Given the description of an element on the screen output the (x, y) to click on. 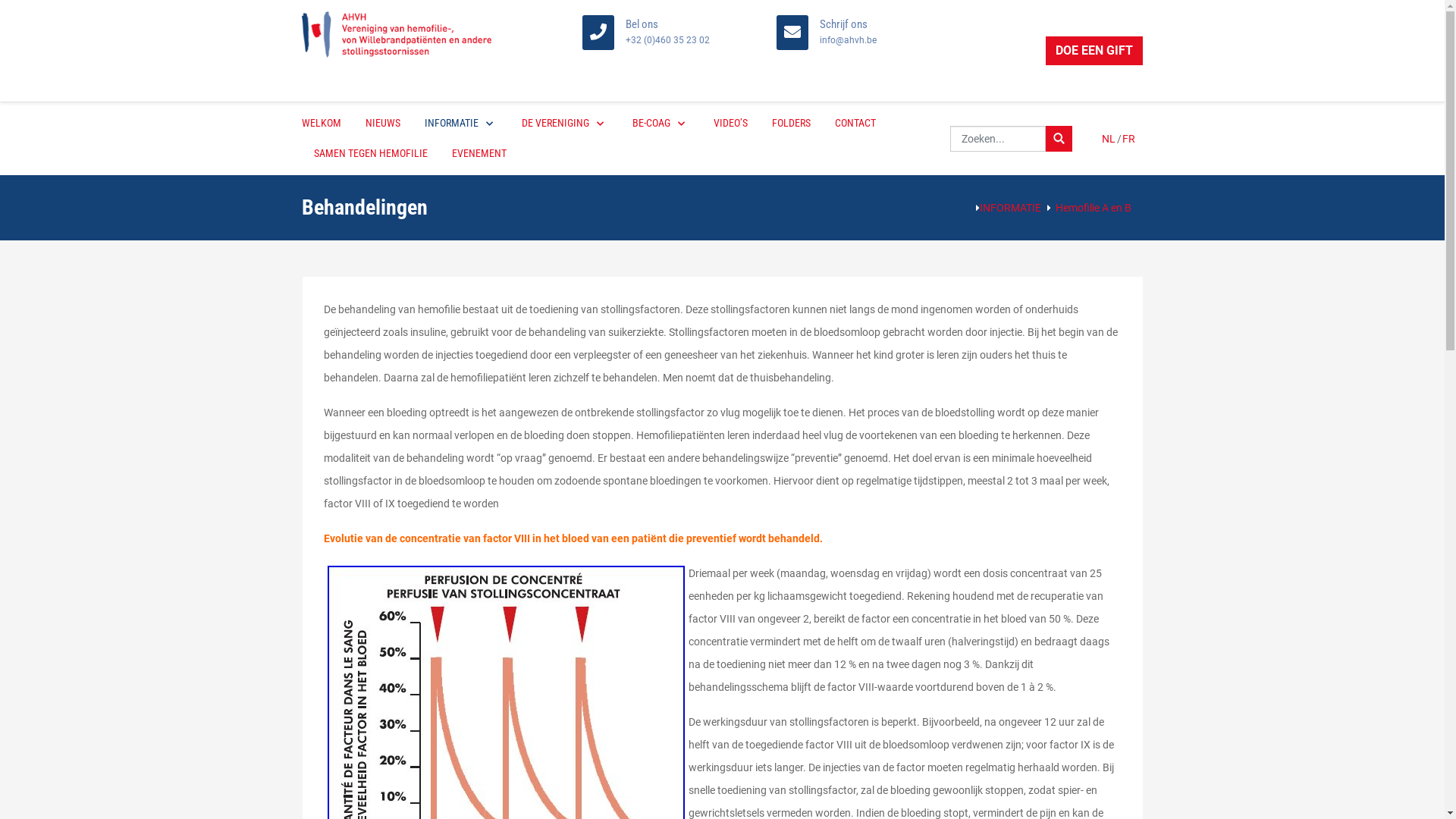
INFORMATIE Element type: text (1010, 207)
DE VERENIGING Element type: text (564, 123)
NIEUWS Element type: text (382, 123)
Hemofilie A en B Element type: text (1093, 207)
BE-COAG Element type: text (660, 123)
WELKOM Element type: text (327, 123)
SAMEN TEGEN HEMOFILIE Element type: text (370, 153)
CONTACT Element type: text (854, 123)
EVENEMENT Element type: text (478, 153)
FR Element type: text (1128, 138)
FOLDERS Element type: text (790, 123)
NL Element type: text (1109, 138)
DOE EEN GIFT Element type: text (1093, 50)
info@ahvh.be Element type: text (847, 39)
INFORMATIE Element type: text (460, 123)
